Given the description of an element on the screen output the (x, y) to click on. 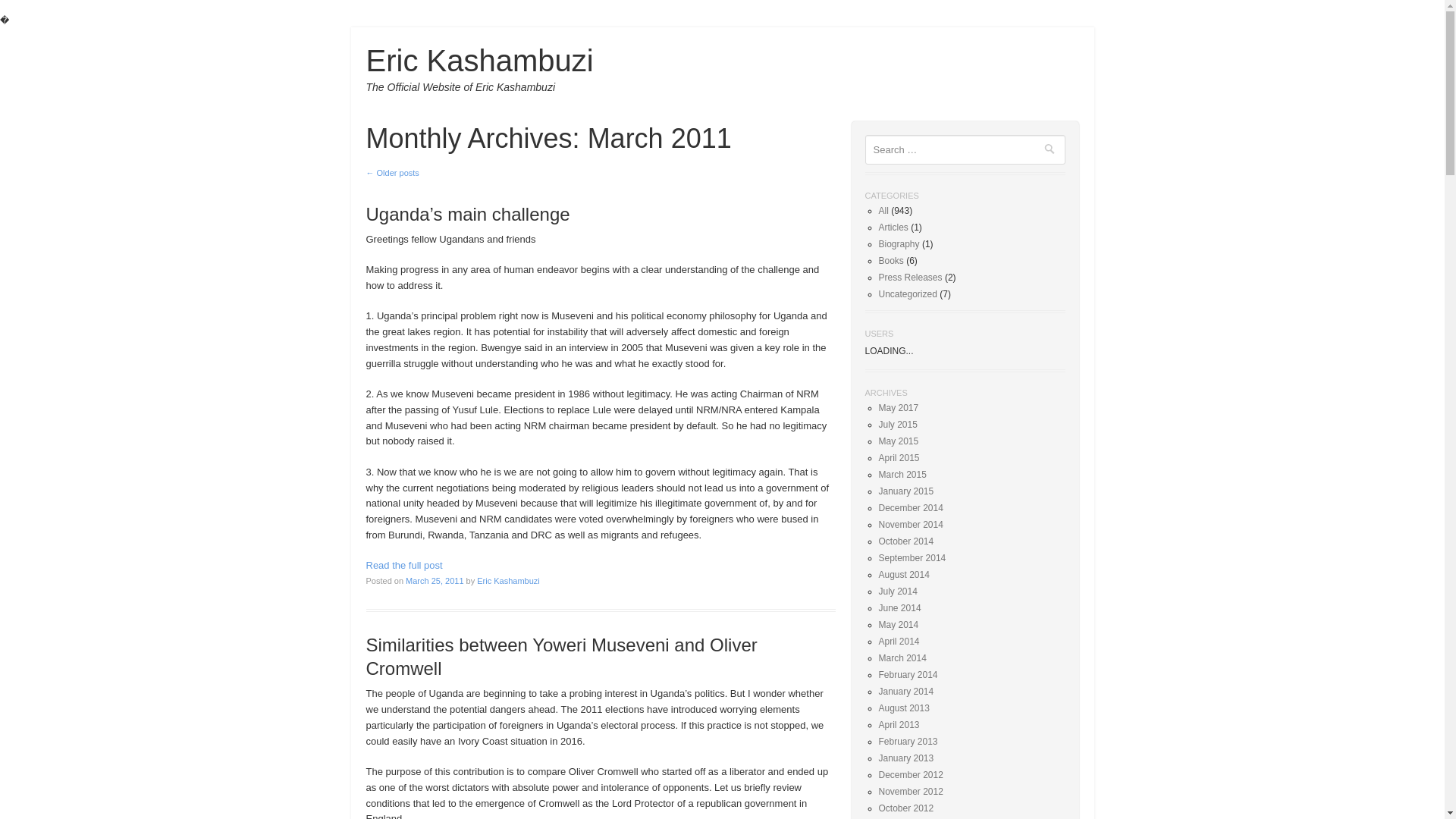
View all posts by Eric Kashambuzi (508, 580)
11:32 PM (434, 580)
Search (1050, 152)
March 25, 2011 (434, 580)
Read the full post (403, 564)
Similarities between Yoweri Museveni and Oliver Cromwell (561, 656)
Eric Kashambuzi (478, 60)
Eric Kashambuzi (478, 60)
Eric Kashambuzi (508, 580)
